Given the description of an element on the screen output the (x, y) to click on. 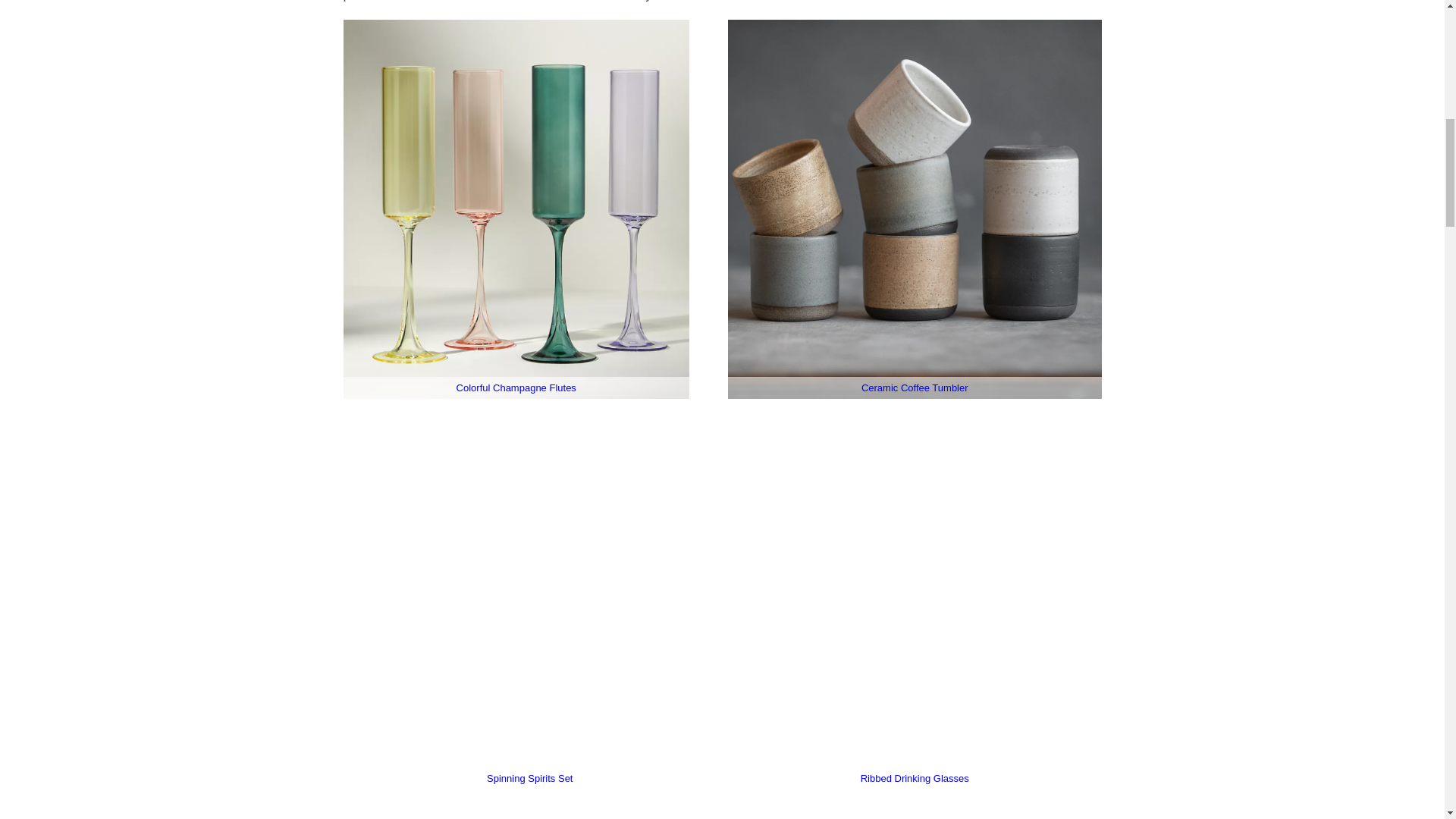
Ribbed Drinking Glasses (914, 778)
Colorful Champagne Flutes (516, 387)
Spinning Spirits Set (529, 778)
Ceramic Coffee Tumbler (914, 387)
